Given the description of an element on the screen output the (x, y) to click on. 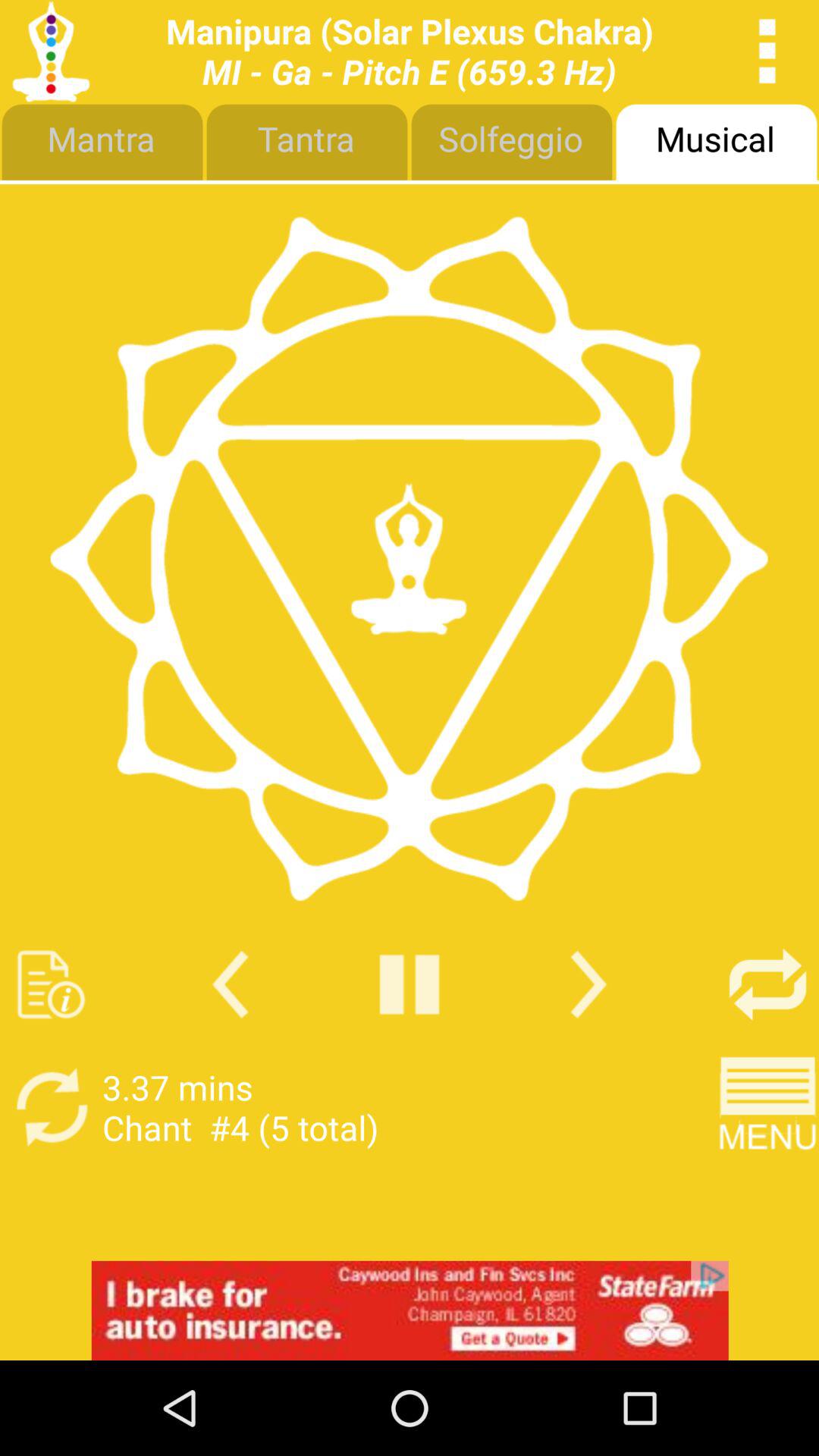
ellipse (767, 51)
